Given the description of an element on the screen output the (x, y) to click on. 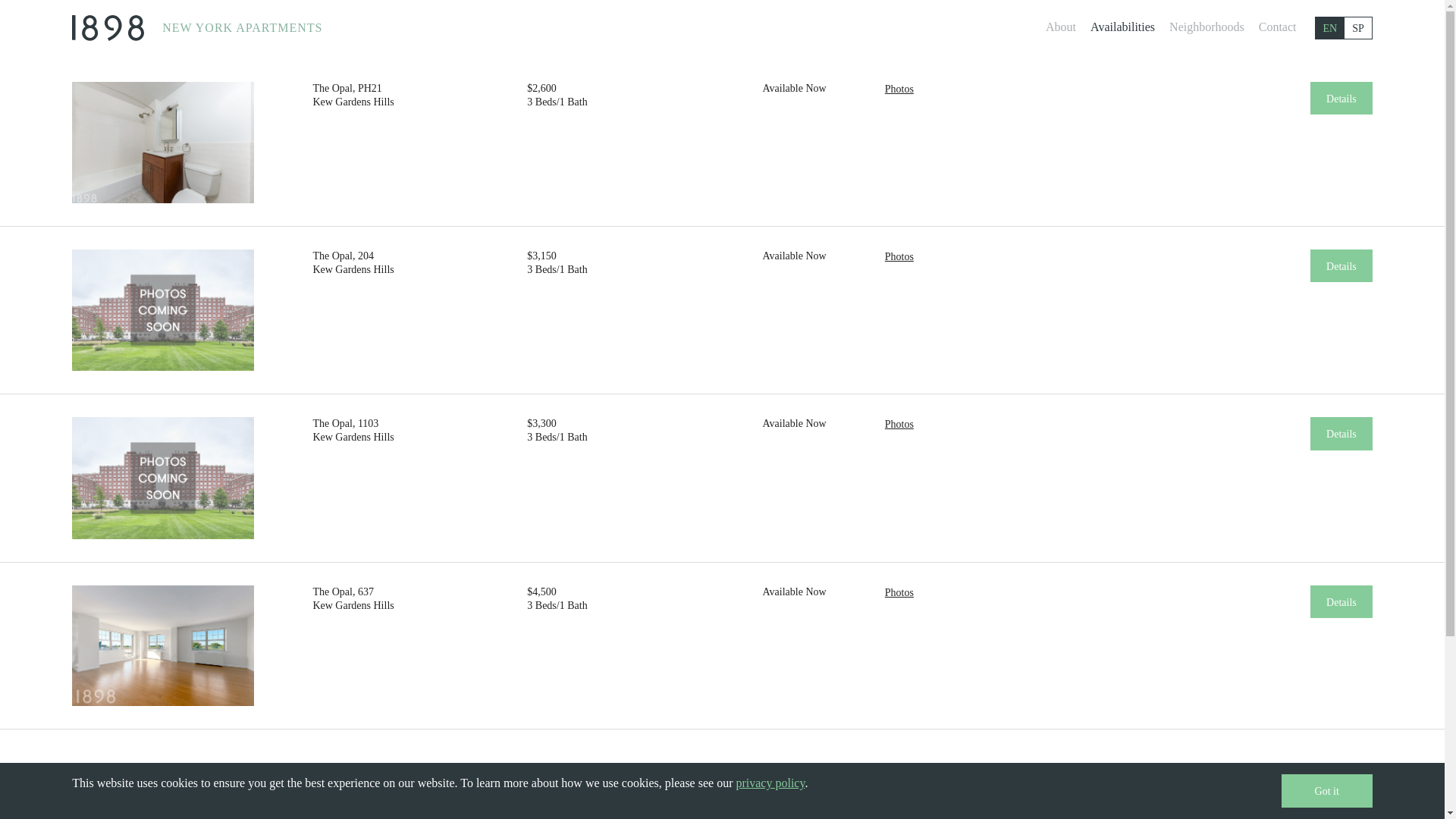
Availabilities Element type: text (1122, 26)
Details Element type: text (1341, 433)
privacy policy Element type: text (769, 782)
Details Element type: text (1341, 601)
Details Element type: text (1341, 265)
Photos Element type: text (898, 592)
About Element type: text (1060, 26)
Photos Element type: text (898, 89)
Contact Element type: text (1277, 26)
Neighborhoods Element type: text (1206, 26)
Details Element type: text (1341, 98)
Photos Element type: text (898, 424)
Photos Element type: text (898, 256)
